Given the description of an element on the screen output the (x, y) to click on. 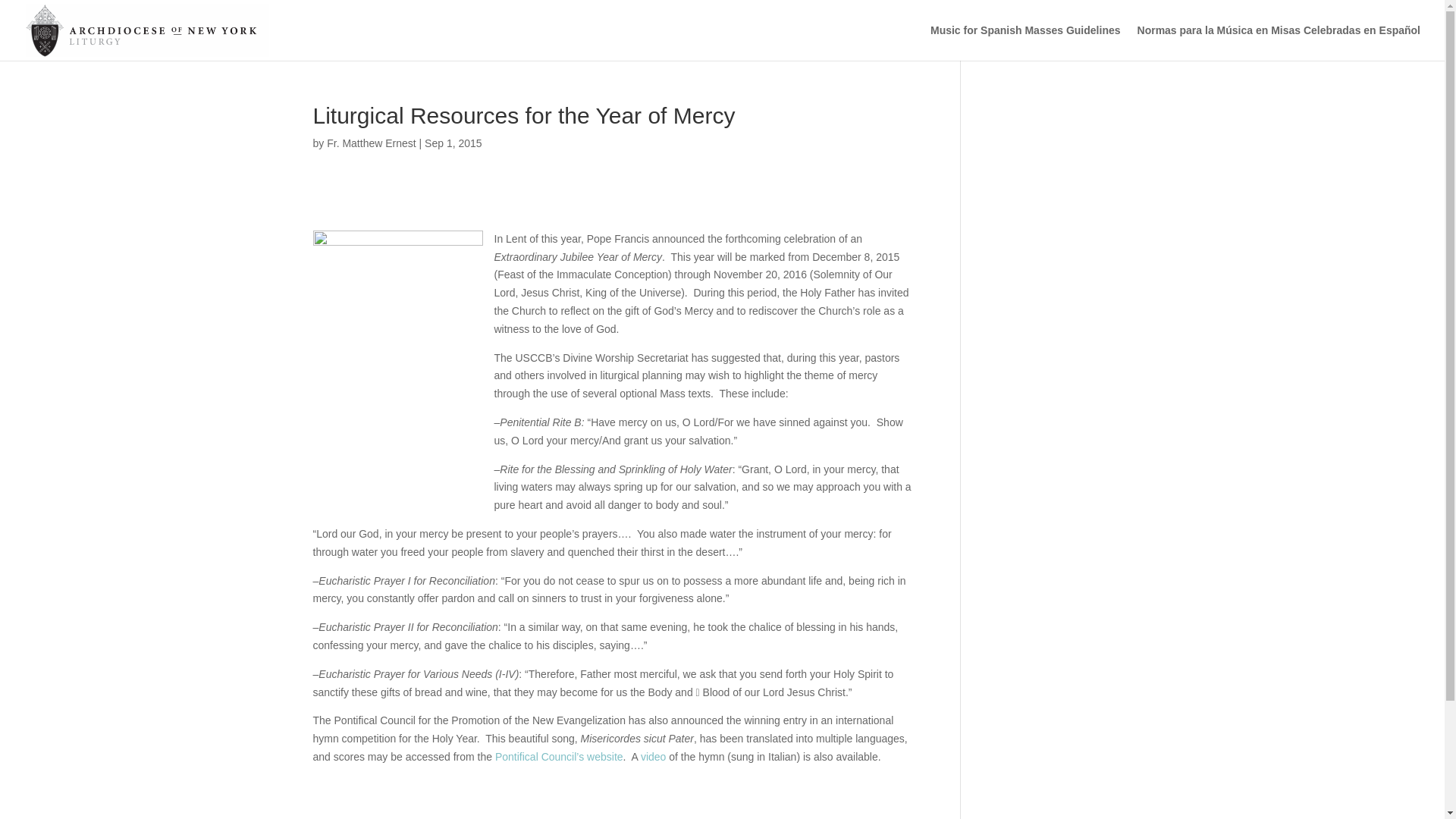
video (652, 756)
Fr. Matthew Ernest (370, 143)
Music for Spanish Masses Guidelines (1025, 42)
Posts by Fr. Matthew Ernest (370, 143)
